Given the description of an element on the screen output the (x, y) to click on. 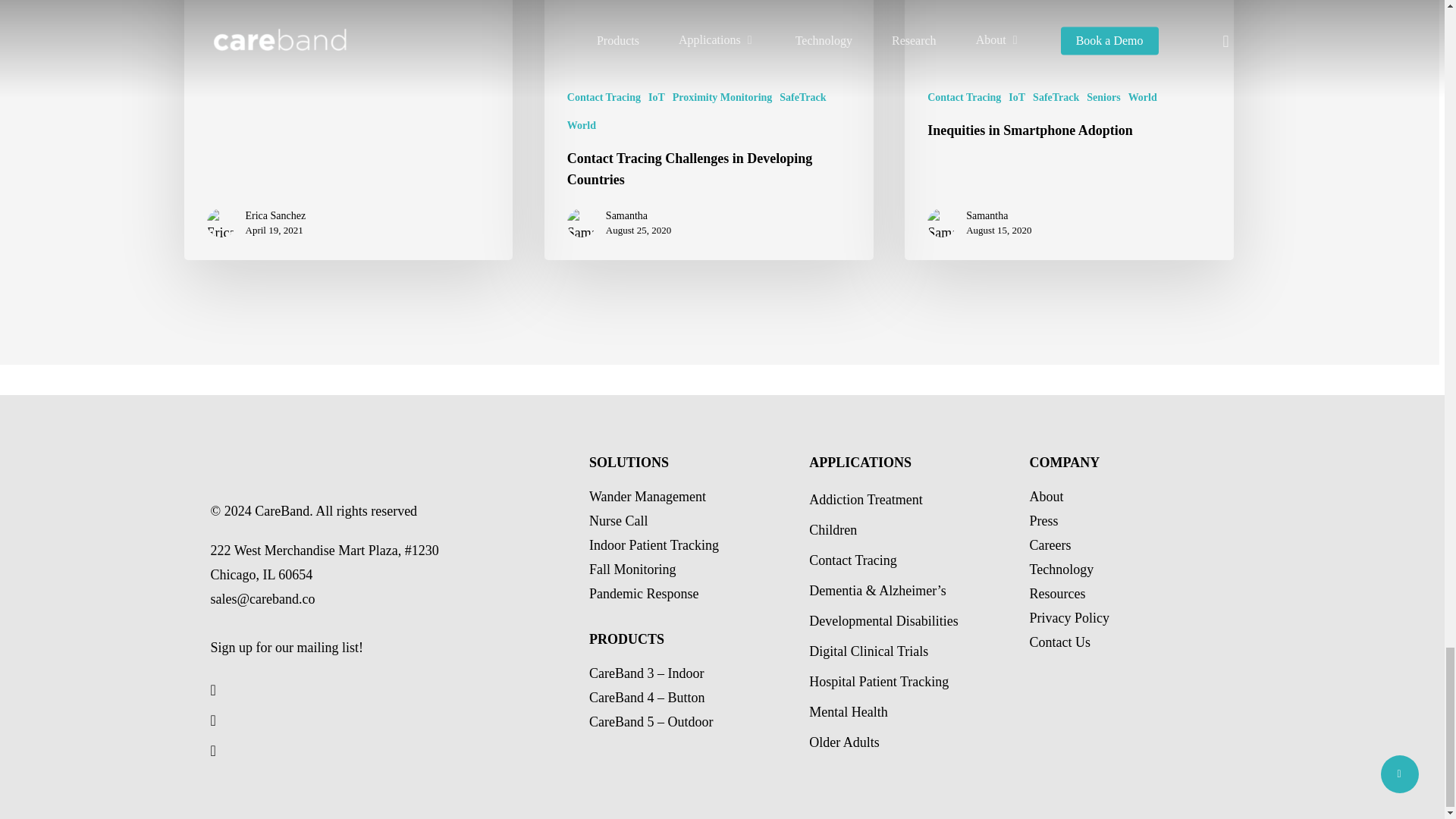
Erica Sanchez (275, 215)
Contact Tracing (603, 97)
